Given the description of an element on the screen output the (x, y) to click on. 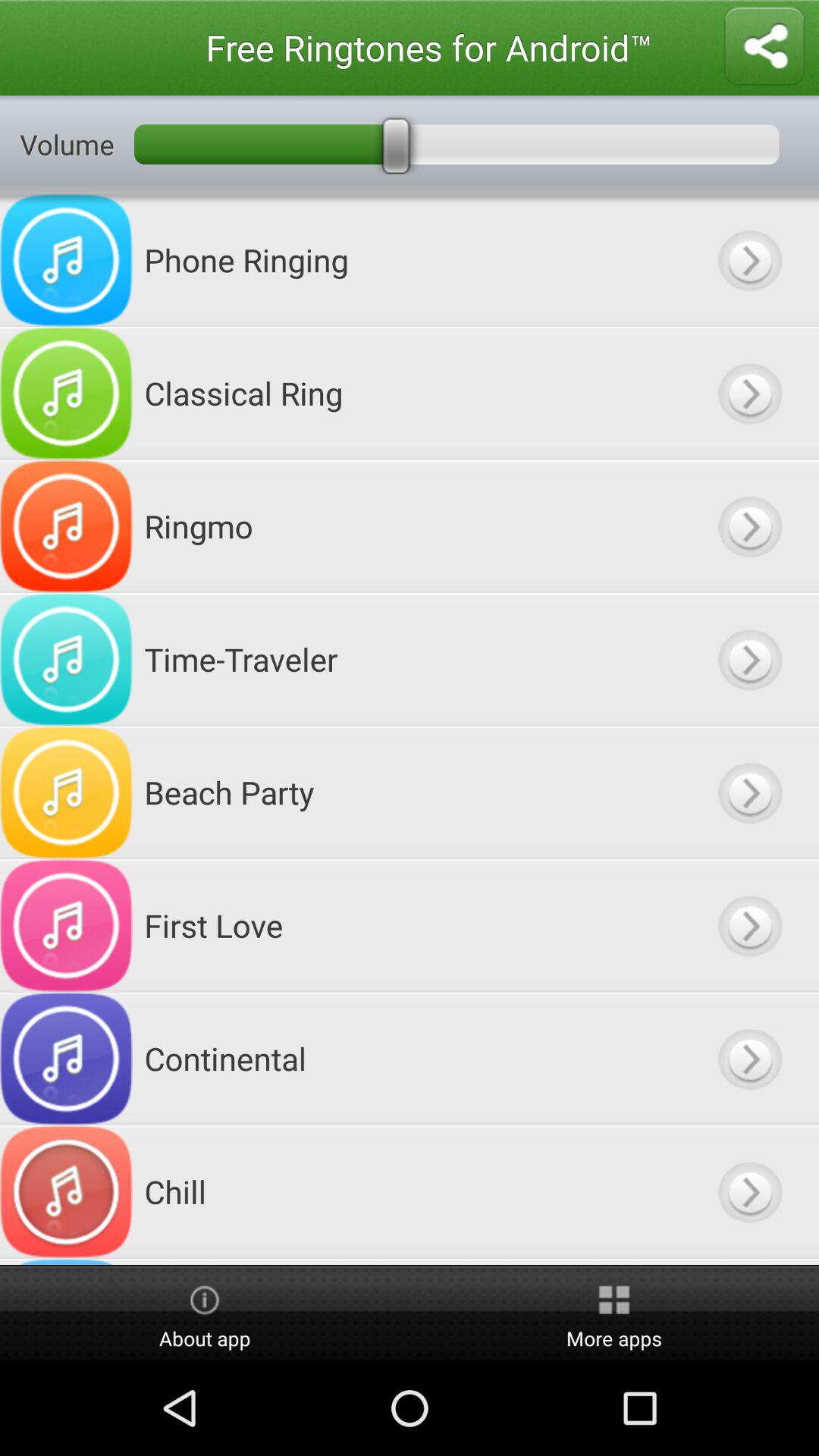
share on social media (764, 47)
